Given the description of an element on the screen output the (x, y) to click on. 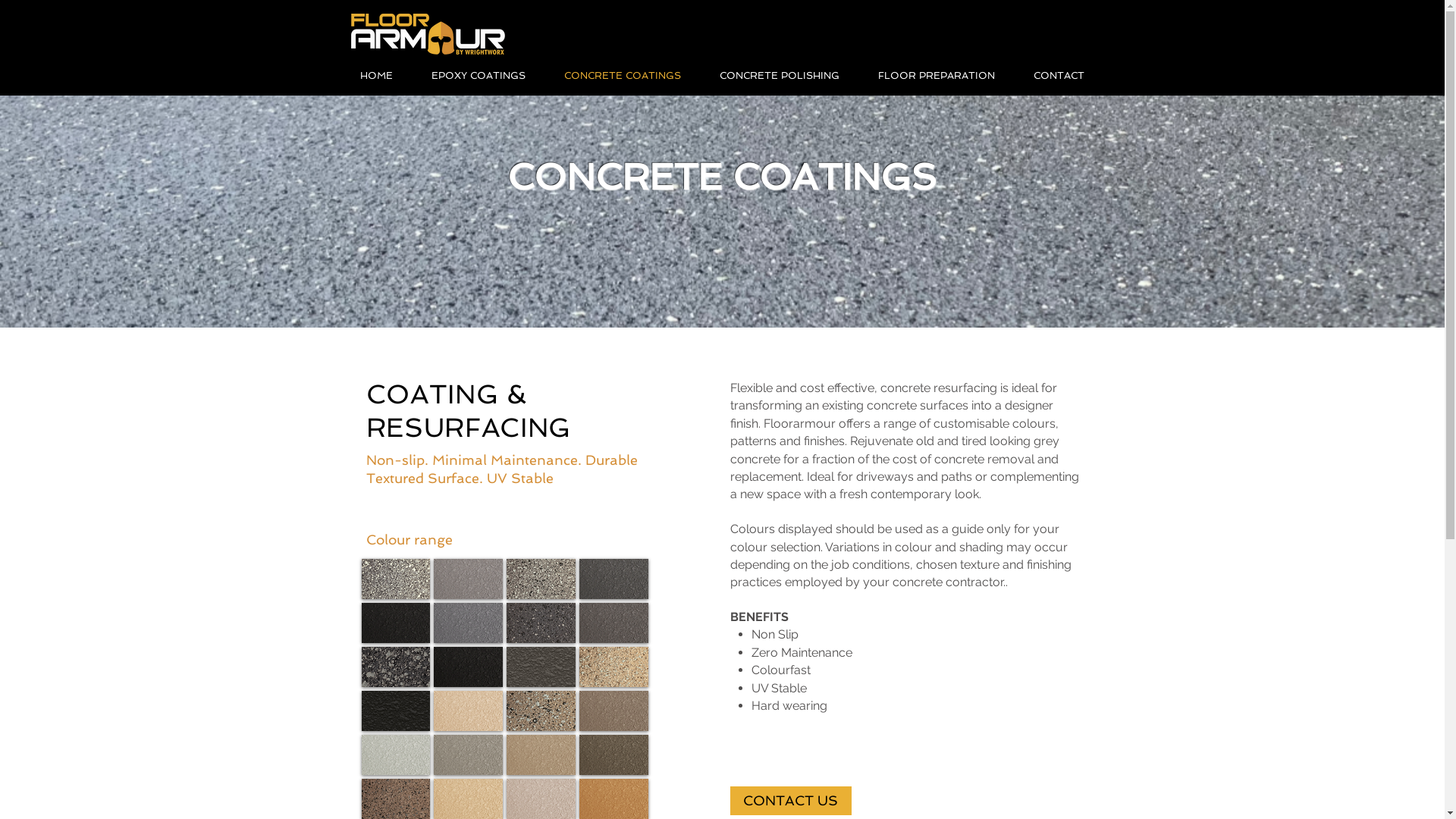
FLOOR PREPARATION Element type: text (935, 75)
EPOXY COATINGS Element type: text (478, 75)
CONTACT Element type: text (1059, 75)
CONCRETE COATINGS Element type: text (621, 75)
CONTACT US Element type: text (789, 800)
HOME Element type: text (375, 75)
CONCRETE POLISHING Element type: text (779, 75)
